Given the description of an element on the screen output the (x, y) to click on. 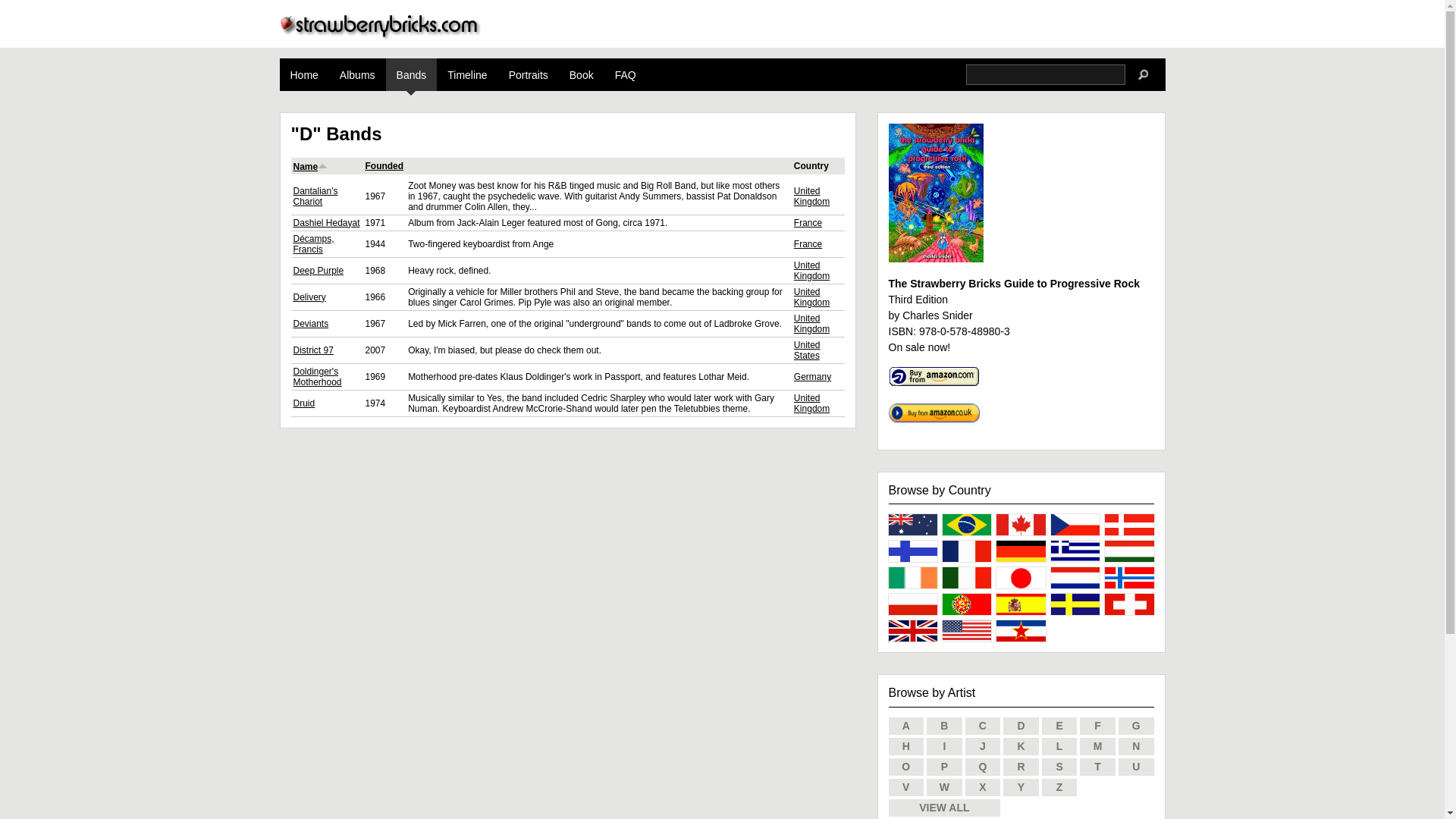
Home (379, 34)
Dashiel Hedayat (325, 222)
FAQ (625, 74)
Deviants (310, 323)
France (807, 222)
Search (1143, 74)
Doldinger's Motherhood (316, 376)
United States (807, 350)
Albums (357, 74)
Delivery (308, 296)
Timeline (466, 74)
The definitive progressive rock record guide (581, 74)
Book (581, 74)
Bands (411, 74)
United Kingdom (811, 270)
